Given the description of an element on the screen output the (x, y) to click on. 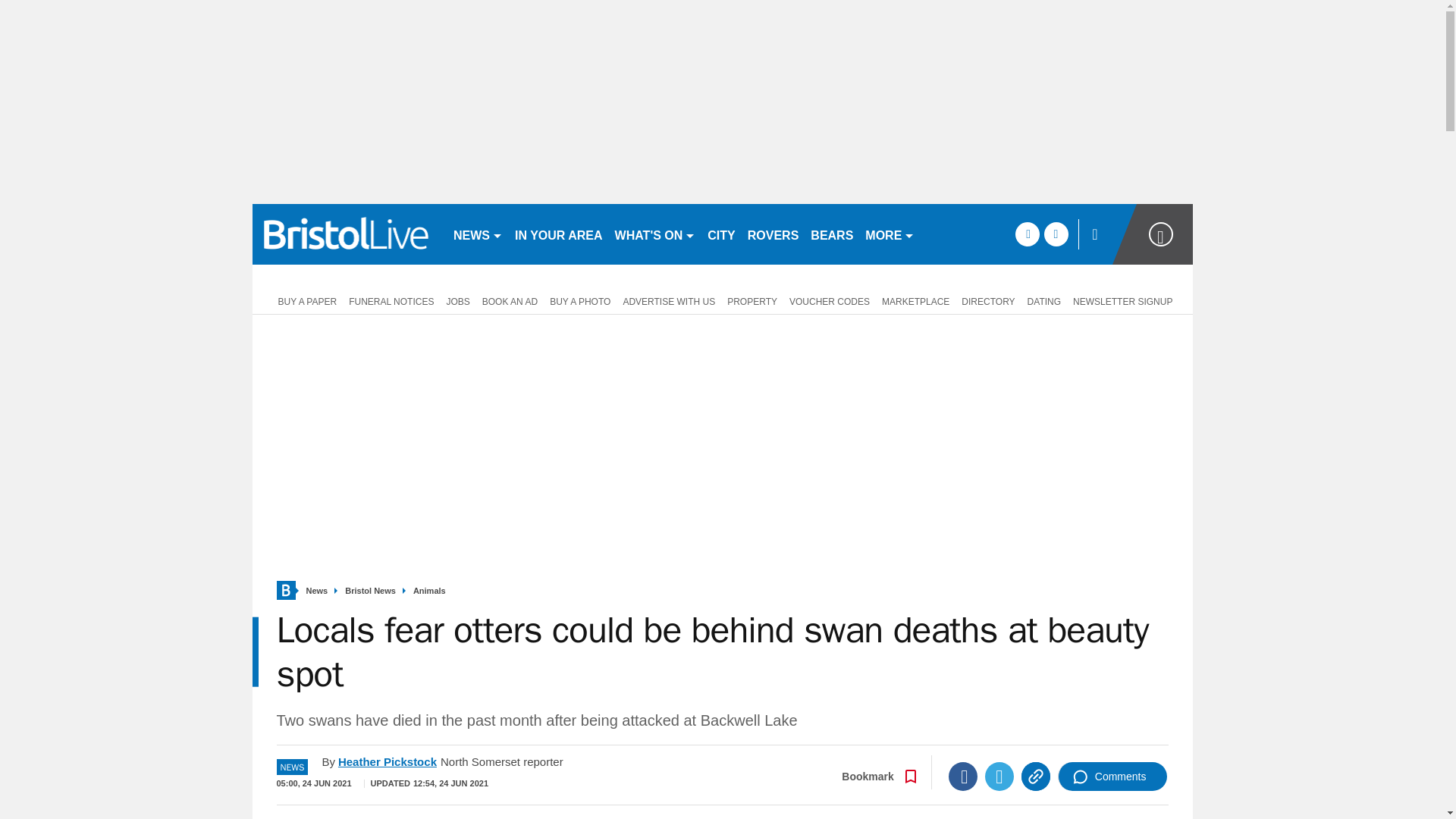
MORE (889, 233)
WHAT'S ON (654, 233)
NEWS (477, 233)
bristolpost (345, 233)
Comments (1112, 776)
IN YOUR AREA (558, 233)
Facebook (962, 776)
Twitter (999, 776)
BEARS (832, 233)
ROVERS (773, 233)
